Given the description of an element on the screen output the (x, y) to click on. 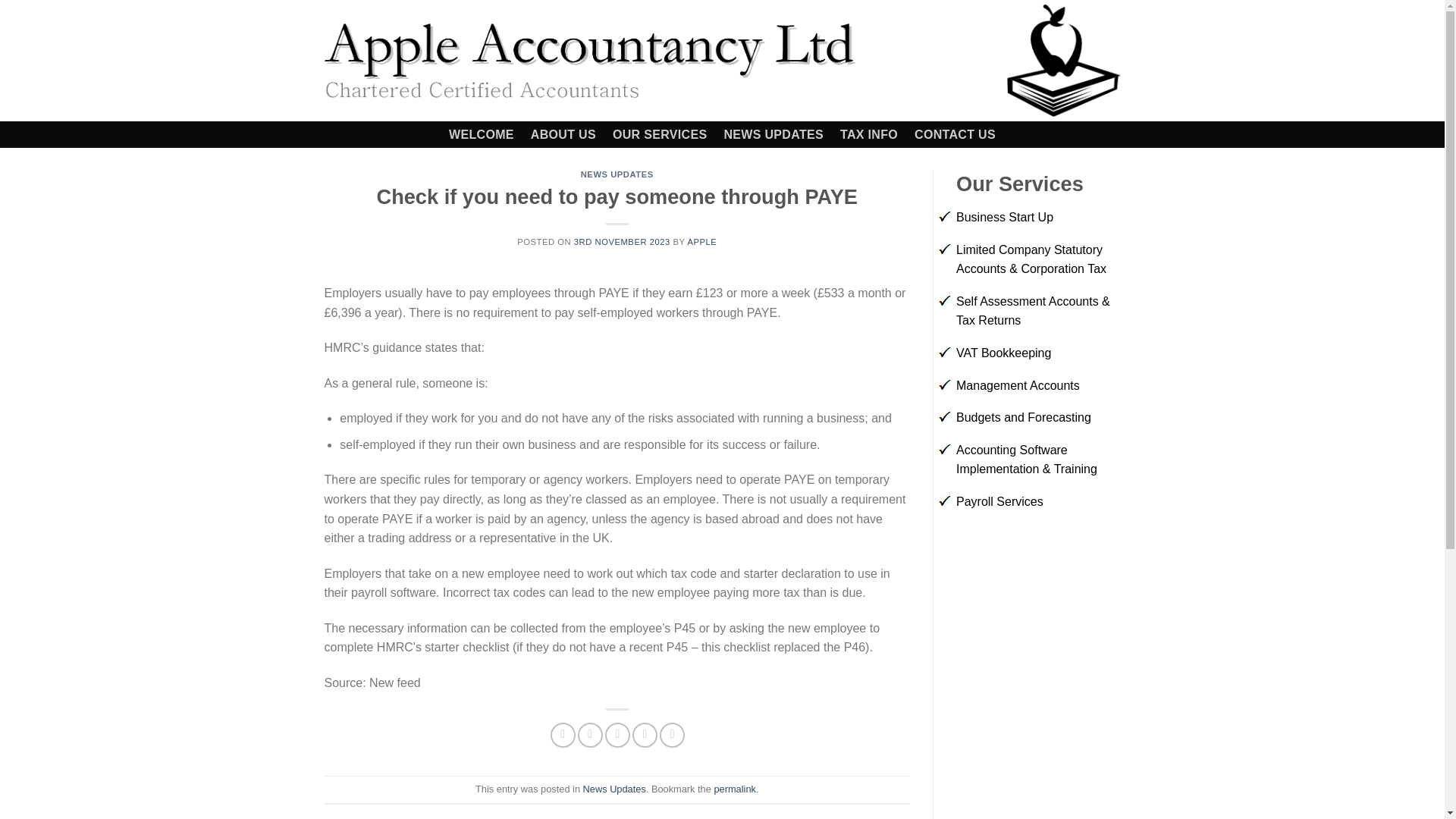
Permalink to Check if you need to pay someone through PAYE (734, 788)
3RD NOVEMBER 2023 (621, 241)
Budgets and Forecasting (1023, 417)
Payroll Services (999, 501)
ABOUT US (563, 134)
APPLE (701, 241)
CONTACT US (954, 134)
permalink (734, 788)
NEWS UPDATES (773, 134)
WELCOME (480, 134)
News Updates (614, 788)
NEWS UPDATES (616, 174)
OUR SERVICES (659, 134)
Management Accounts (1018, 385)
Apple Accountancy Limited - Apple Accountancy Limited (590, 60)
